Given the description of an element on the screen output the (x, y) to click on. 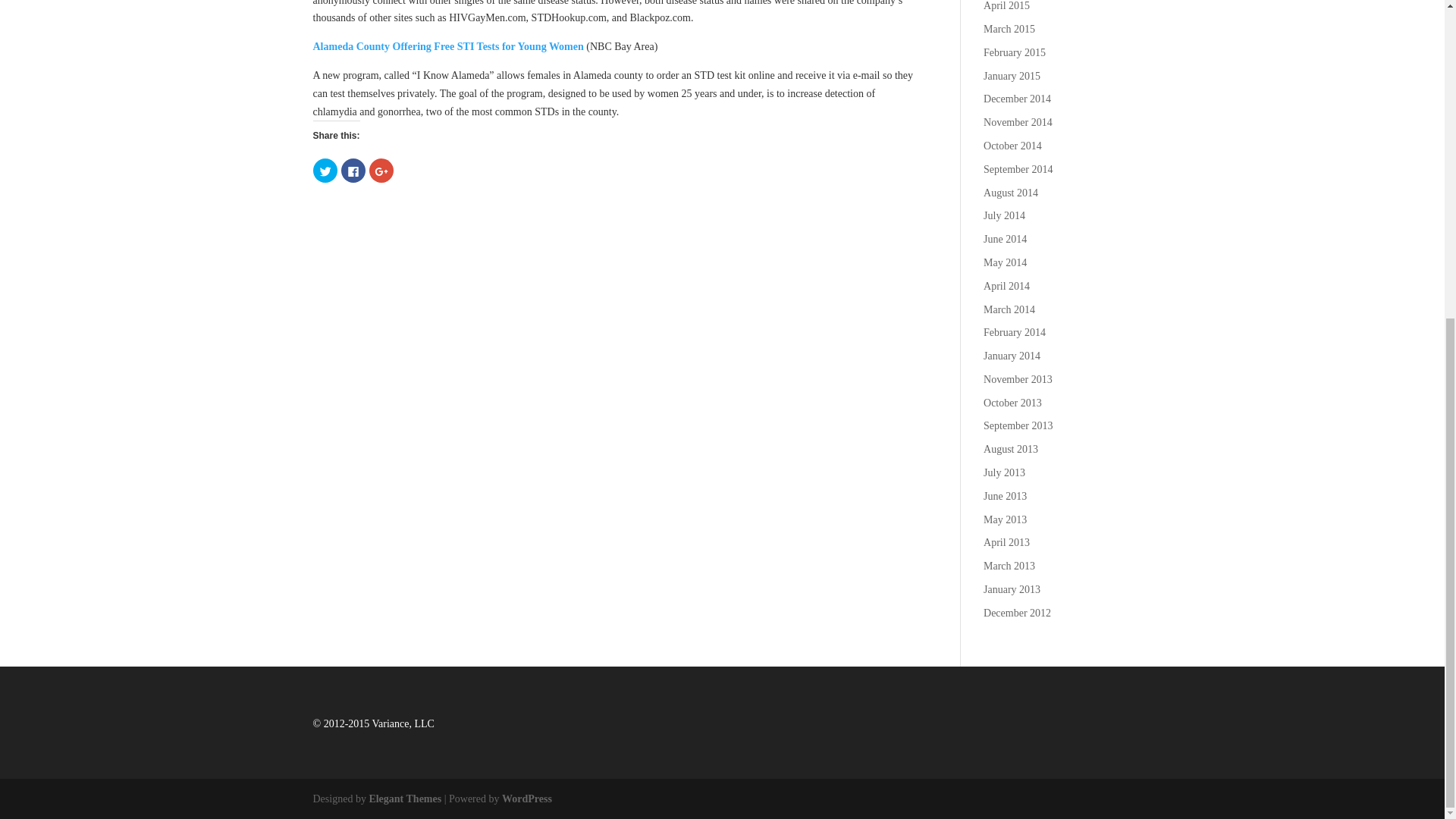
Click to share on Facebook (352, 170)
August 2014 (1011, 193)
February 2015 (1014, 52)
January 2015 (1012, 75)
June 2014 (1005, 238)
May 2014 (1005, 262)
April 2015 (1006, 5)
Click to share on Twitter (324, 170)
March 2015 (1009, 29)
Alameda County Offering Free STI Tests for Young Women (448, 46)
